Given the description of an element on the screen output the (x, y) to click on. 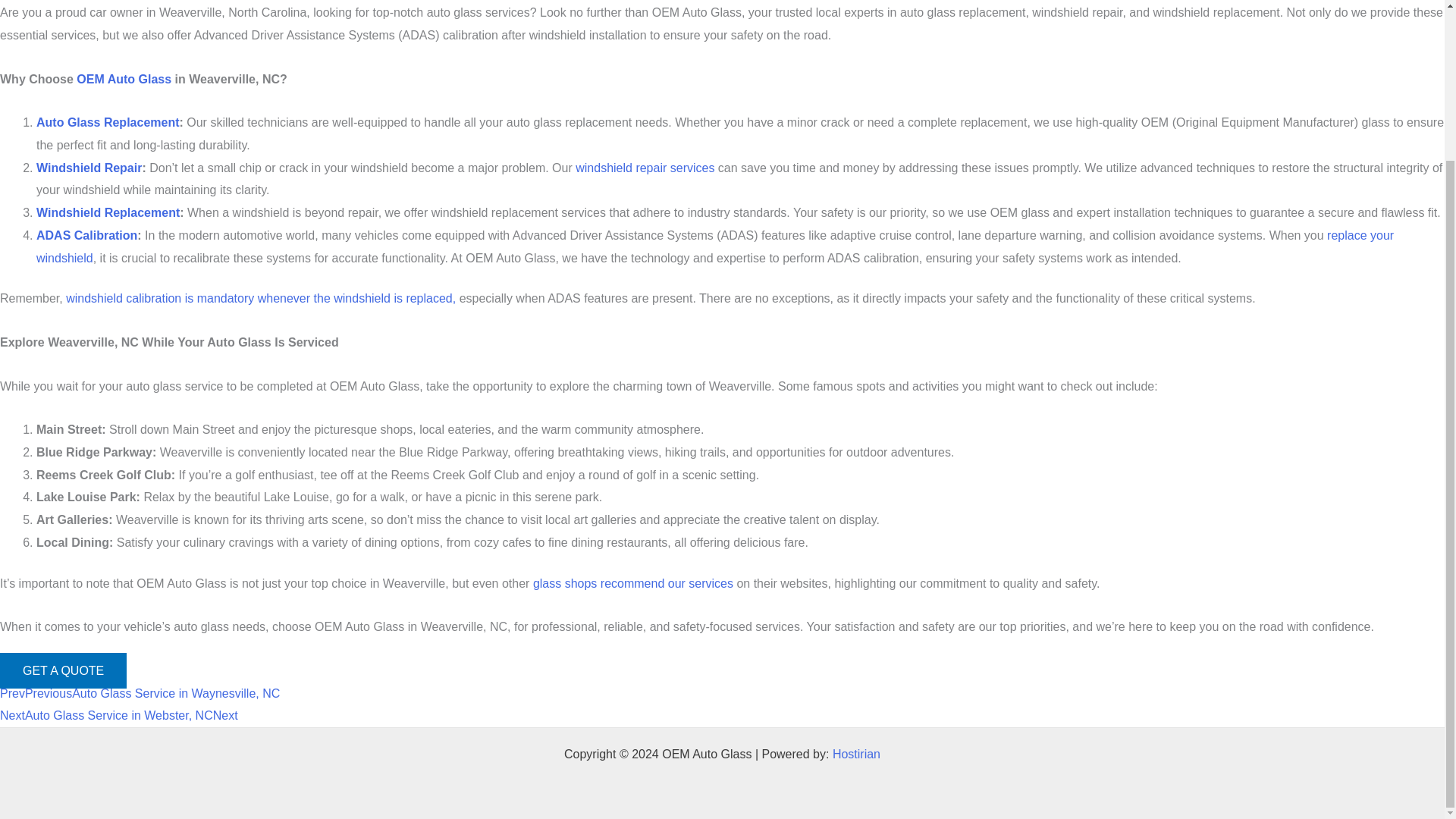
OEM Auto Glass (124, 78)
Hostirian (856, 753)
replace your windshield (714, 246)
ADAS Calibration (86, 235)
Windshield Repair (88, 167)
NextAuto Glass Service in Webster, NCNext (119, 715)
PrevPreviousAuto Glass Service in Waynesville, NC (139, 693)
glass shops recommend our services (632, 583)
Windshield Replacement (107, 212)
GET A QUOTE (63, 670)
windshield repair services (644, 167)
Auto Glass Replacement (107, 122)
